Given the description of an element on the screen output the (x, y) to click on. 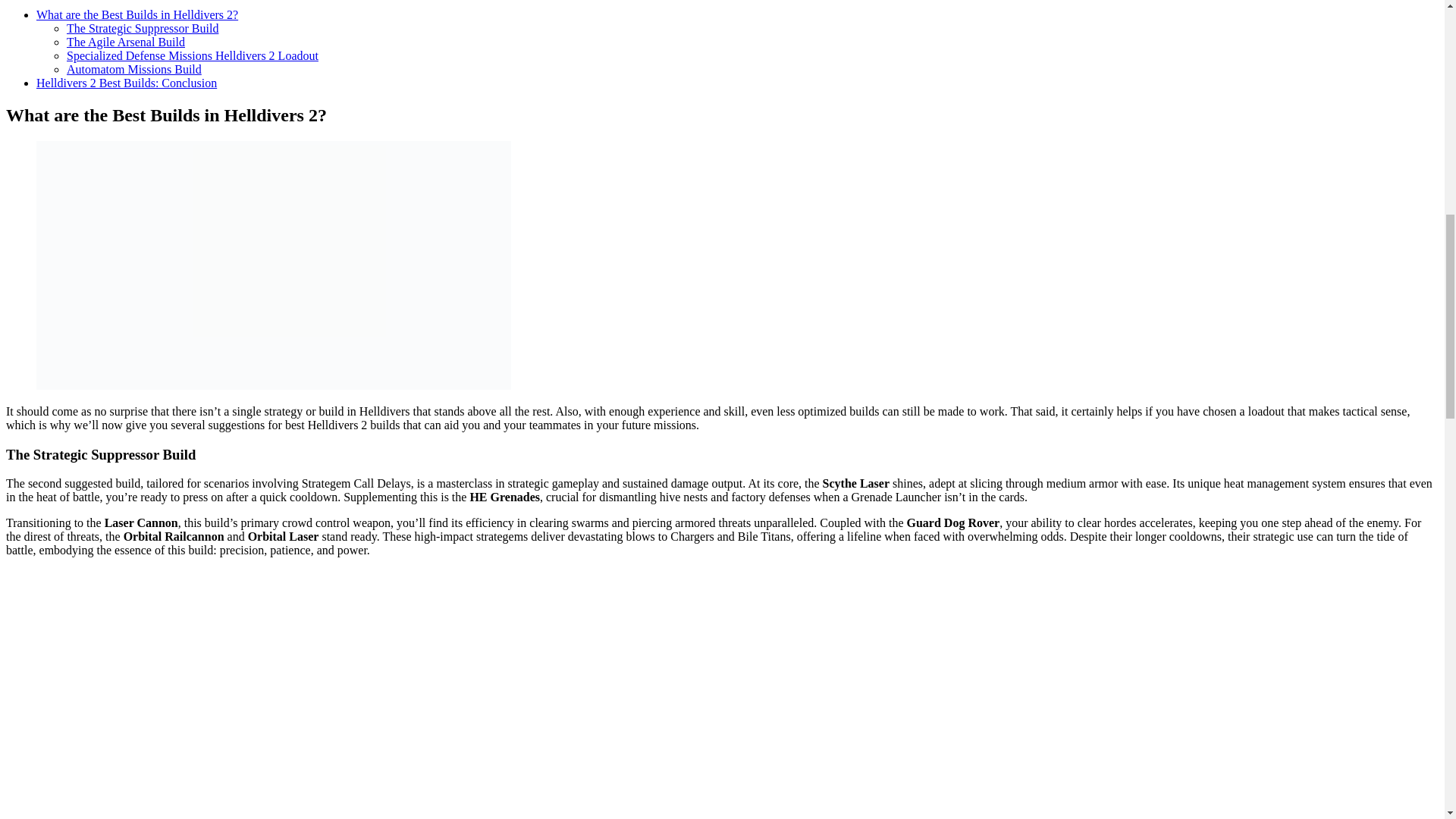
The Agile Arsenal Build (125, 42)
What are the Best Builds in Helldivers 2? (137, 14)
Automatom Missions Build (134, 69)
Helldivers 2 Best Builds: Conclusion (126, 82)
Automatom Missions Build (134, 69)
Helldivers 2 Best Builds: Conclusion (126, 82)
What are the Best Builds in Helldivers 2? (137, 14)
The Strategic Suppressor Build (142, 28)
The Agile Arsenal Build (125, 42)
Specialized Defense Missions Helldivers 2 Loadout (192, 55)
The Strategic Suppressor Build (142, 28)
Specialized Defense Missions Helldivers 2 Loadout (192, 55)
